Given the description of an element on the screen output the (x, y) to click on. 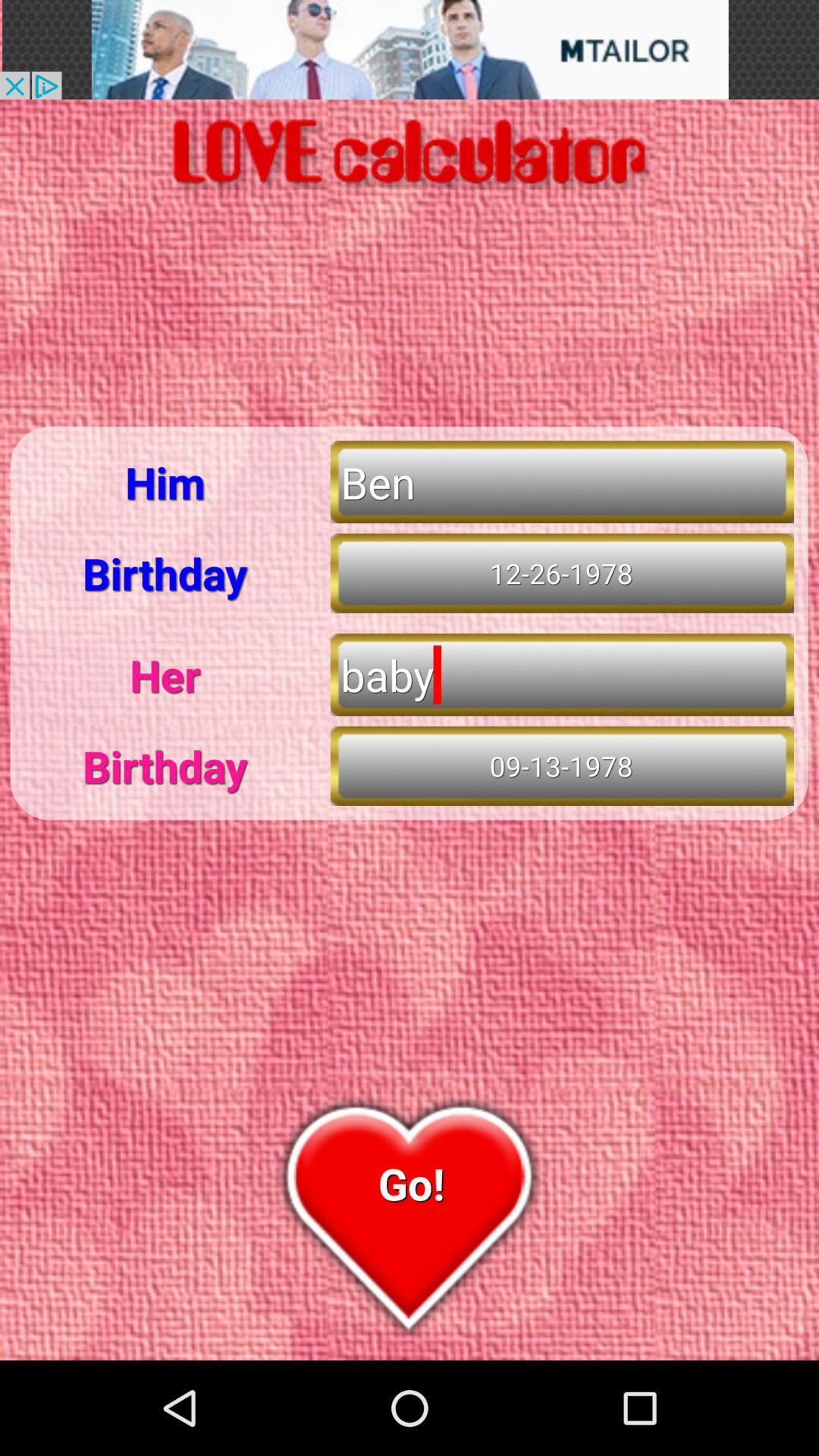
top the page box (409, 49)
